Given the description of an element on the screen output the (x, y) to click on. 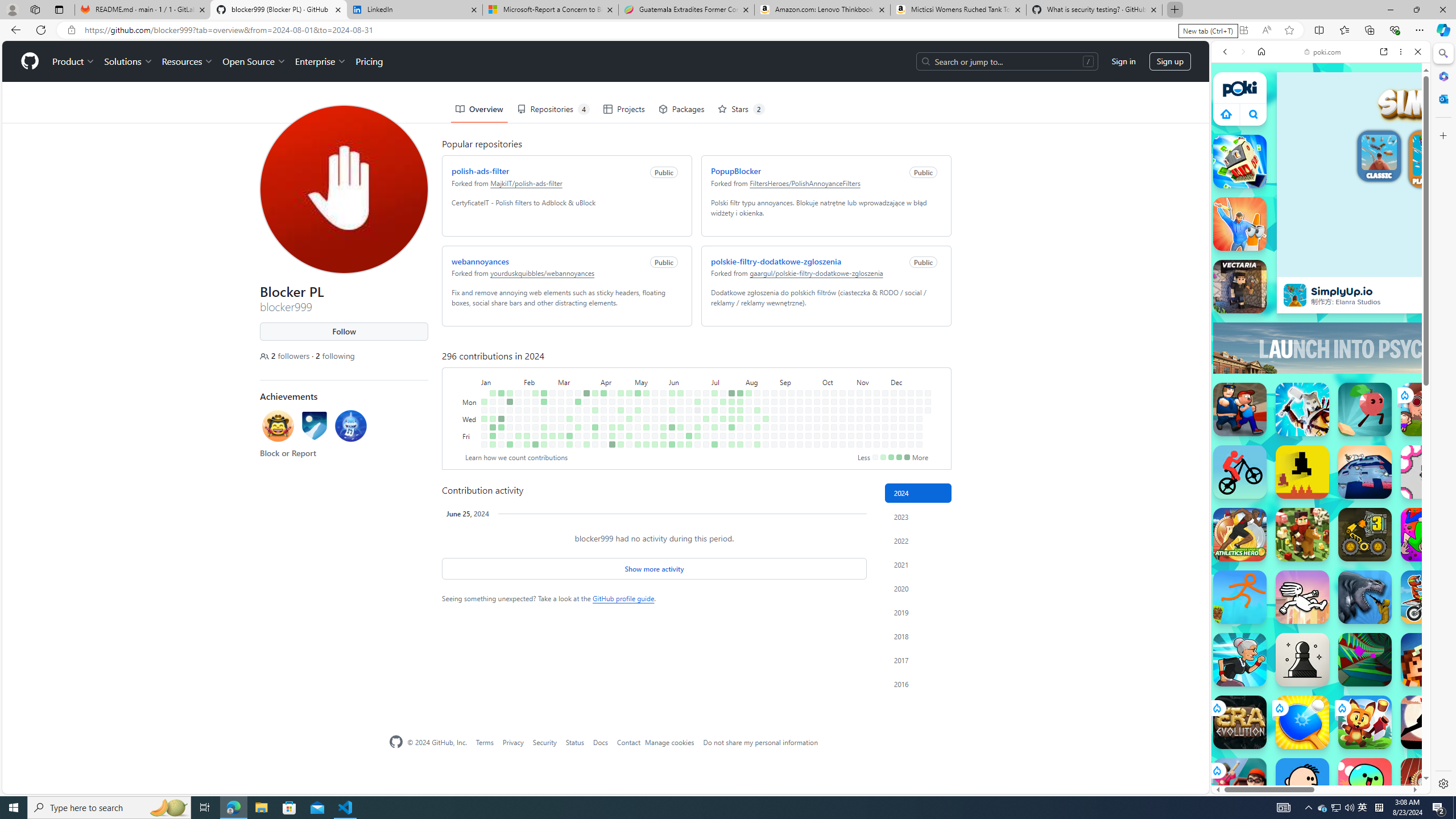
No contributions on May 20th. (655, 401)
No contributions on November 19th. (876, 410)
1 contribution on May 11th. (637, 444)
Security (544, 741)
No contributions on December 6th. (893, 435)
Two Player Games (1320, 323)
2024 (917, 492)
Era: Evolution (1239, 722)
No contributions on November 11th. (867, 401)
No contributions on July 16th. (723, 410)
2 contributions on June 9th. (680, 392)
No contributions on September 17th. (799, 410)
